Given the description of an element on the screen output the (x, y) to click on. 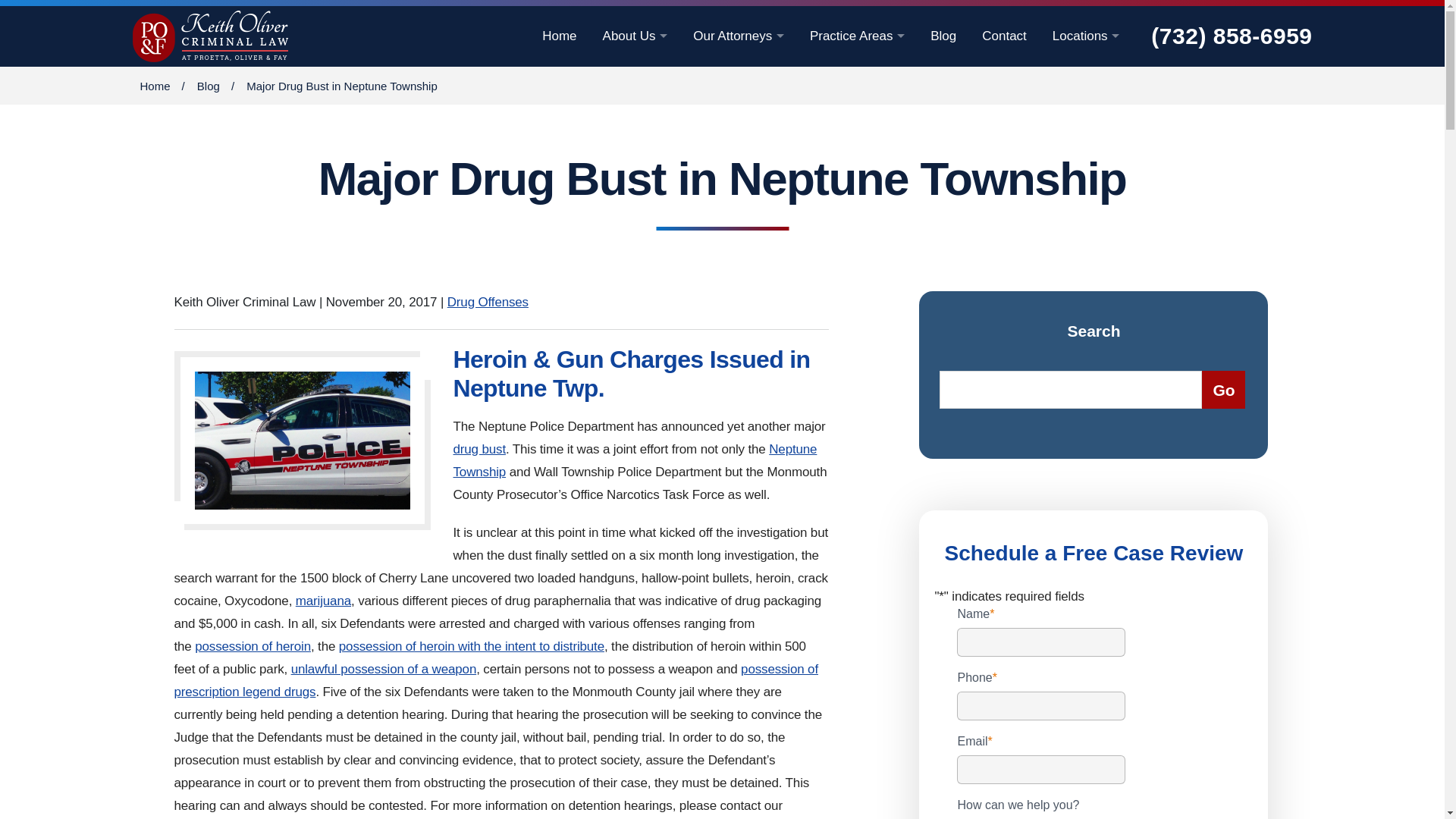
About Us (635, 36)
Our Attorneys (738, 36)
Home (558, 36)
Home (558, 36)
Go (1223, 389)
About Us (635, 36)
Practice Areas (856, 36)
Our Attorneys (738, 36)
Practice Areas (856, 36)
